Given the description of an element on the screen output the (x, y) to click on. 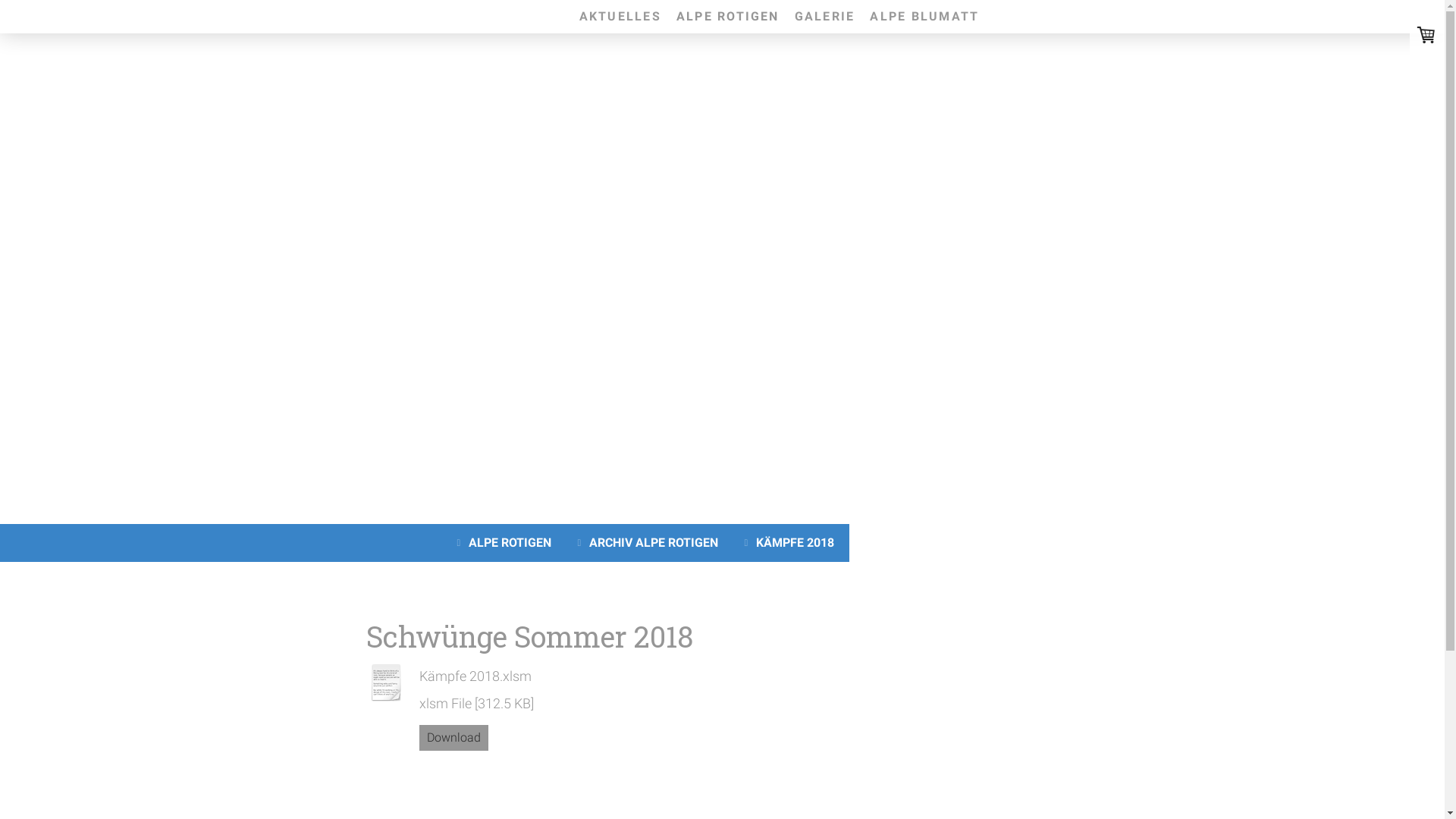
ARCHIV ALPE ROTIGEN Element type: text (648, 542)
AKTUELLES Element type: text (619, 16)
Download Element type: text (452, 737)
ALPE BLUMATT Element type: text (924, 16)
ALPE ROTIGEN Element type: text (505, 542)
GALERIE Element type: text (824, 16)
ALPE ROTIGEN Element type: text (727, 16)
